Given the description of an element on the screen output the (x, y) to click on. 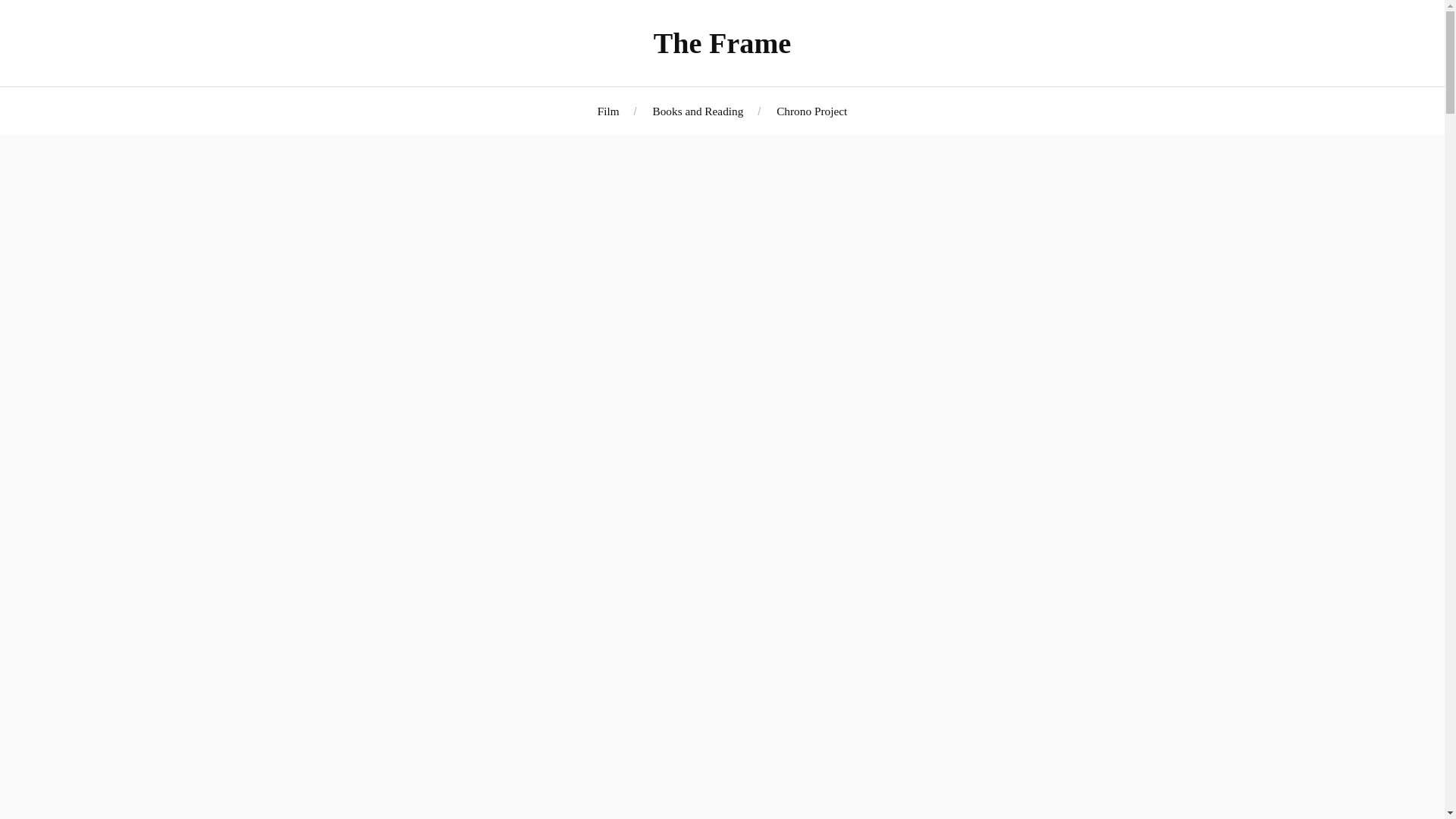
Chrono Project (811, 110)
Film (608, 110)
Books and Reading (698, 110)
The Frame (722, 42)
